Given the description of an element on the screen output the (x, y) to click on. 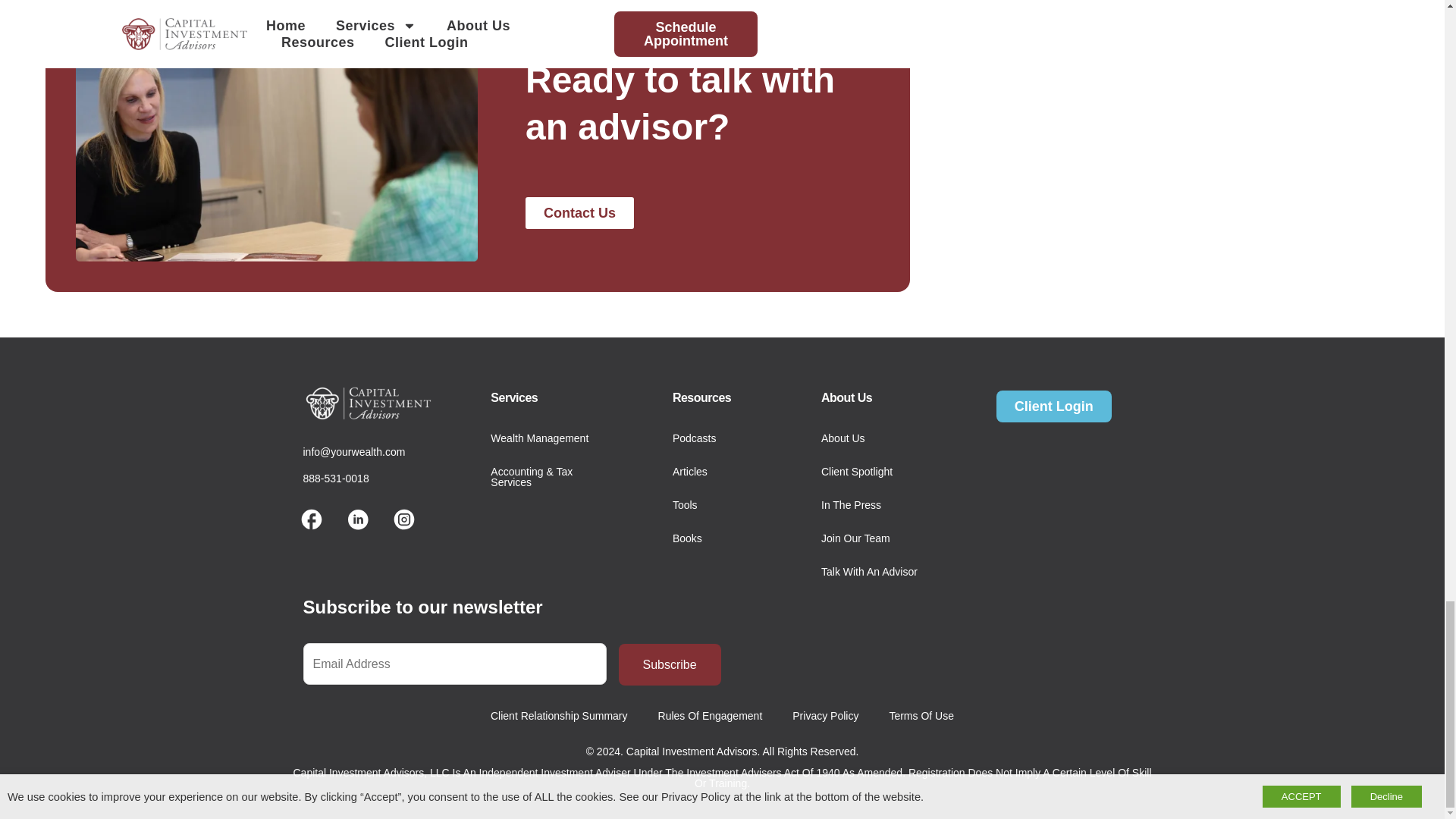
Subscribe (669, 664)
